Given the description of an element on the screen output the (x, y) to click on. 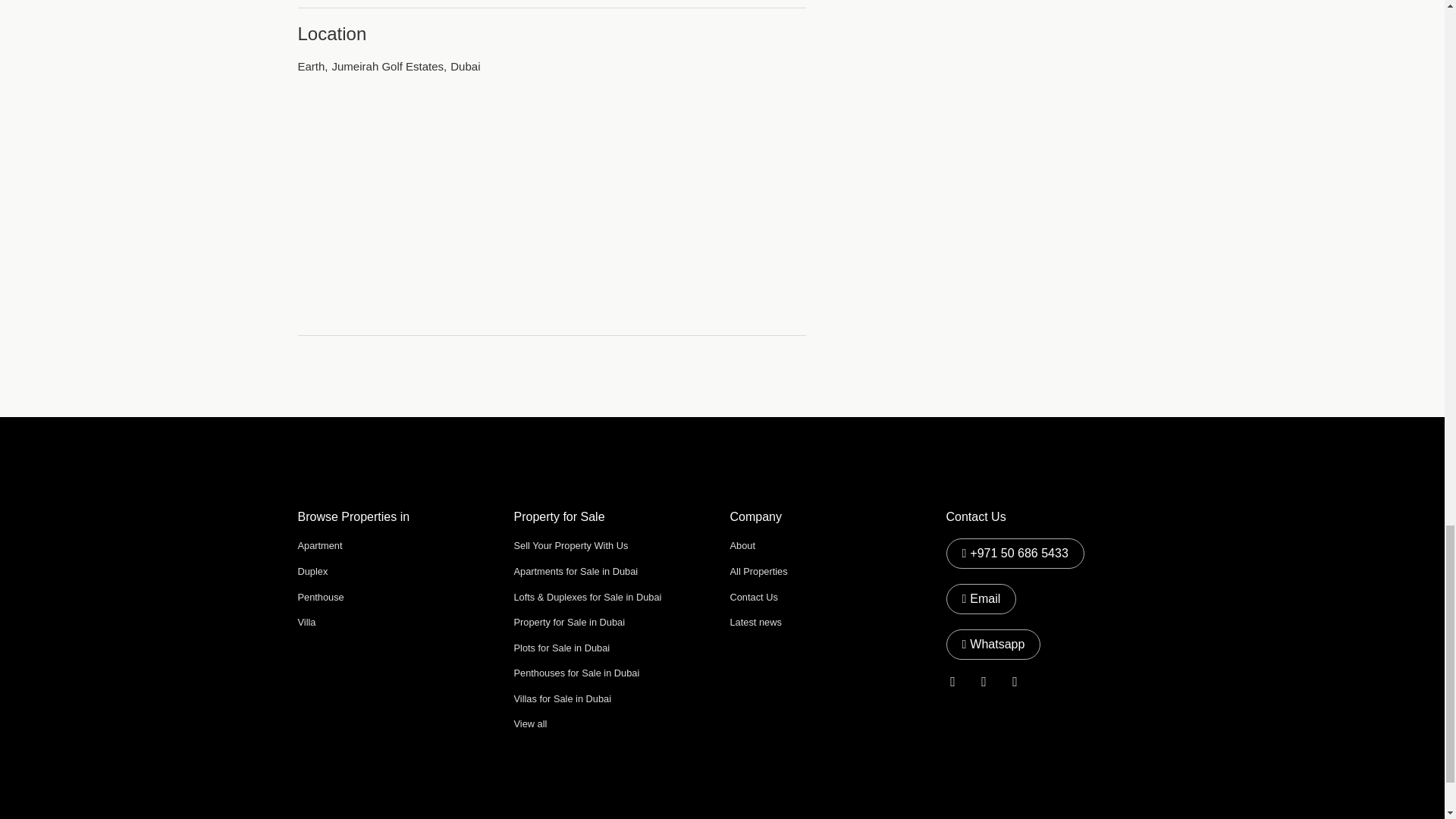
Sell Your Property With Us (570, 545)
Duplex (312, 571)
Apartments for Sale in Dubai (576, 571)
Penthouse (320, 596)
Villa (306, 622)
Property for Sale in Dubai (569, 622)
Penthouses for Sale in Dubai (576, 672)
Plots for Sale in Dubai (561, 647)
Apartment (319, 545)
View all (530, 723)
